Given the description of an element on the screen output the (x, y) to click on. 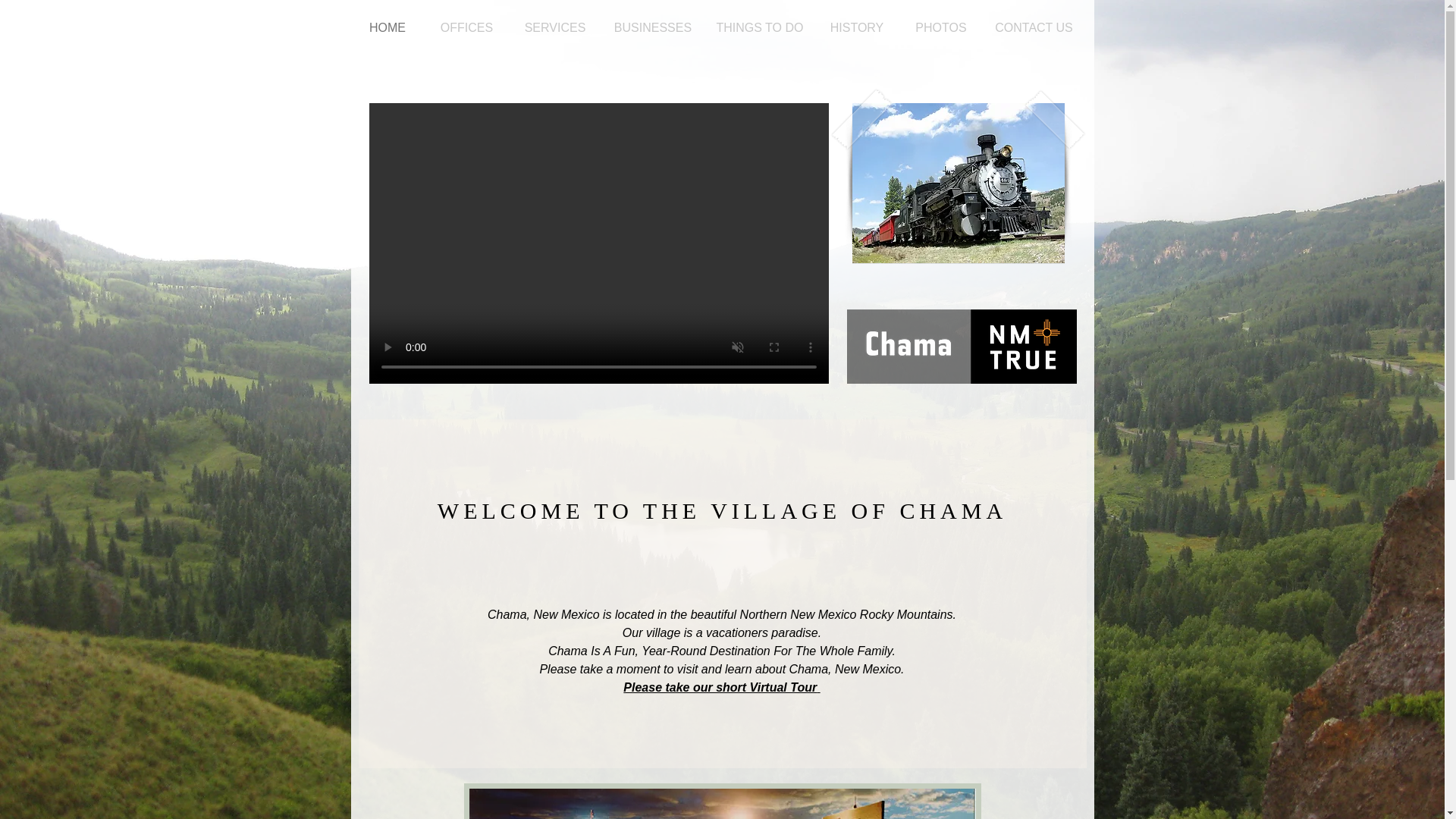
SERVICES (555, 27)
OFFICES (467, 27)
PHOTOS (940, 27)
BUSINESSES (651, 27)
HISTORY (856, 27)
THINGS TO DO (758, 27)
CONTACT US (1034, 27)
HOME (386, 27)
Please take our short Virtual Tour  (721, 686)
